Given the description of an element on the screen output the (x, y) to click on. 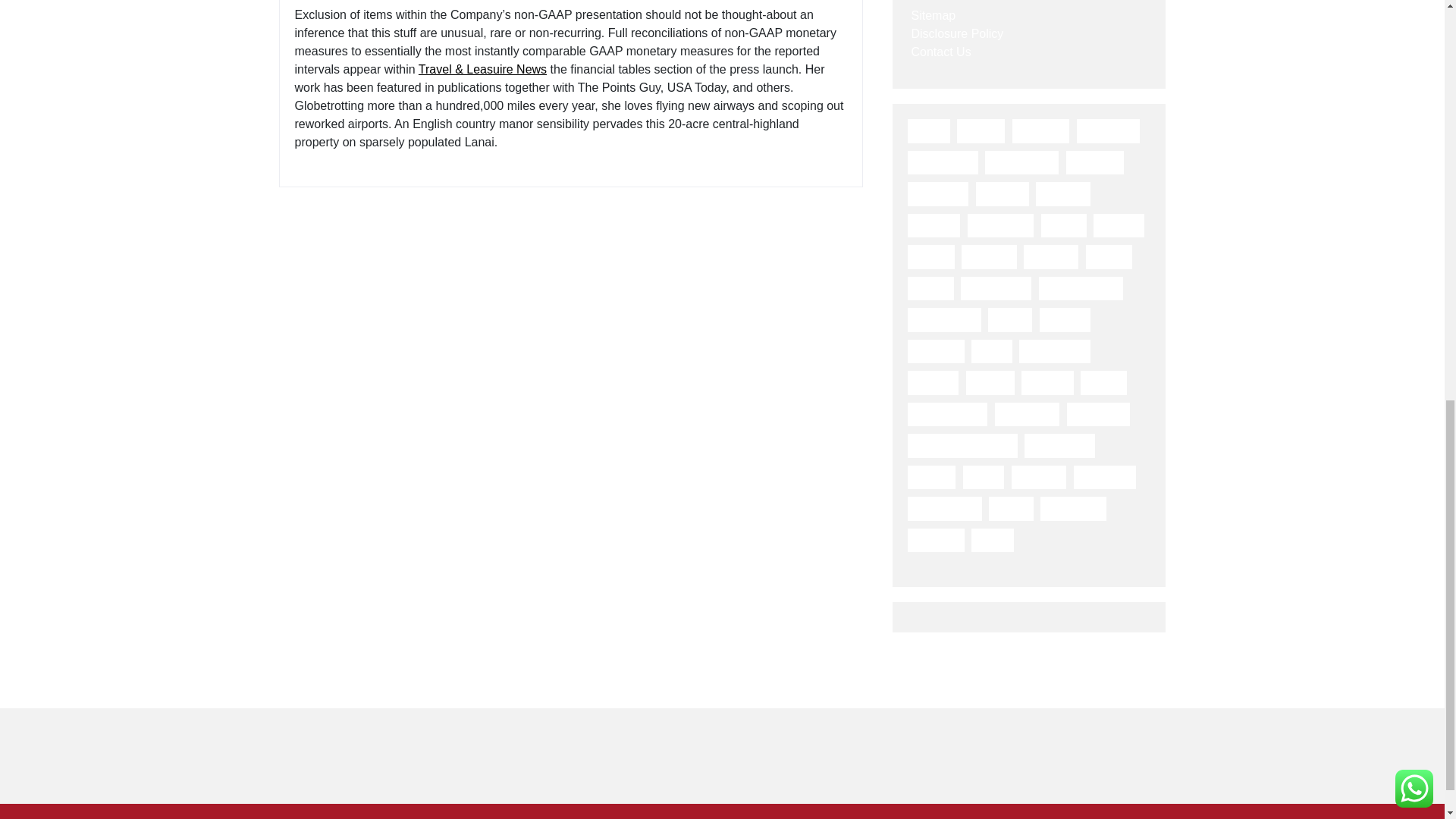
Harvard (1050, 256)
Division (1062, 193)
Faculty (1118, 225)
Barrister (1094, 161)
Fashion (988, 256)
Attorney (1039, 130)
Education (1000, 225)
Family (930, 256)
Authorized (941, 161)
Advice (980, 130)
Contact Us (940, 51)
Disclosure Policy (957, 33)
About (928, 130)
Estate (1063, 225)
Attorneys (1108, 130)
